Given the description of an element on the screen output the (x, y) to click on. 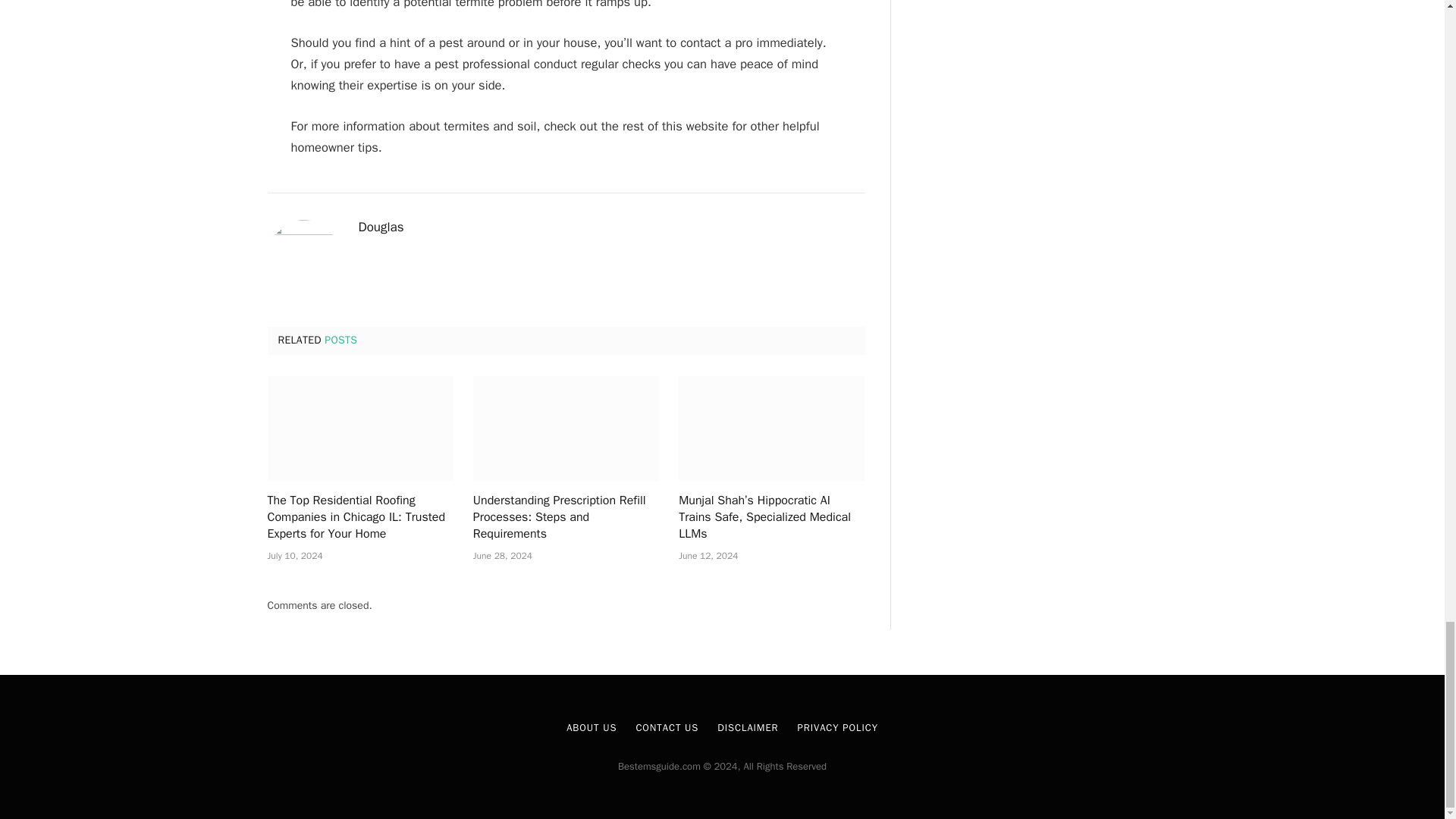
Posts by Douglas (380, 227)
Douglas (380, 227)
